Given the description of an element on the screen output the (x, y) to click on. 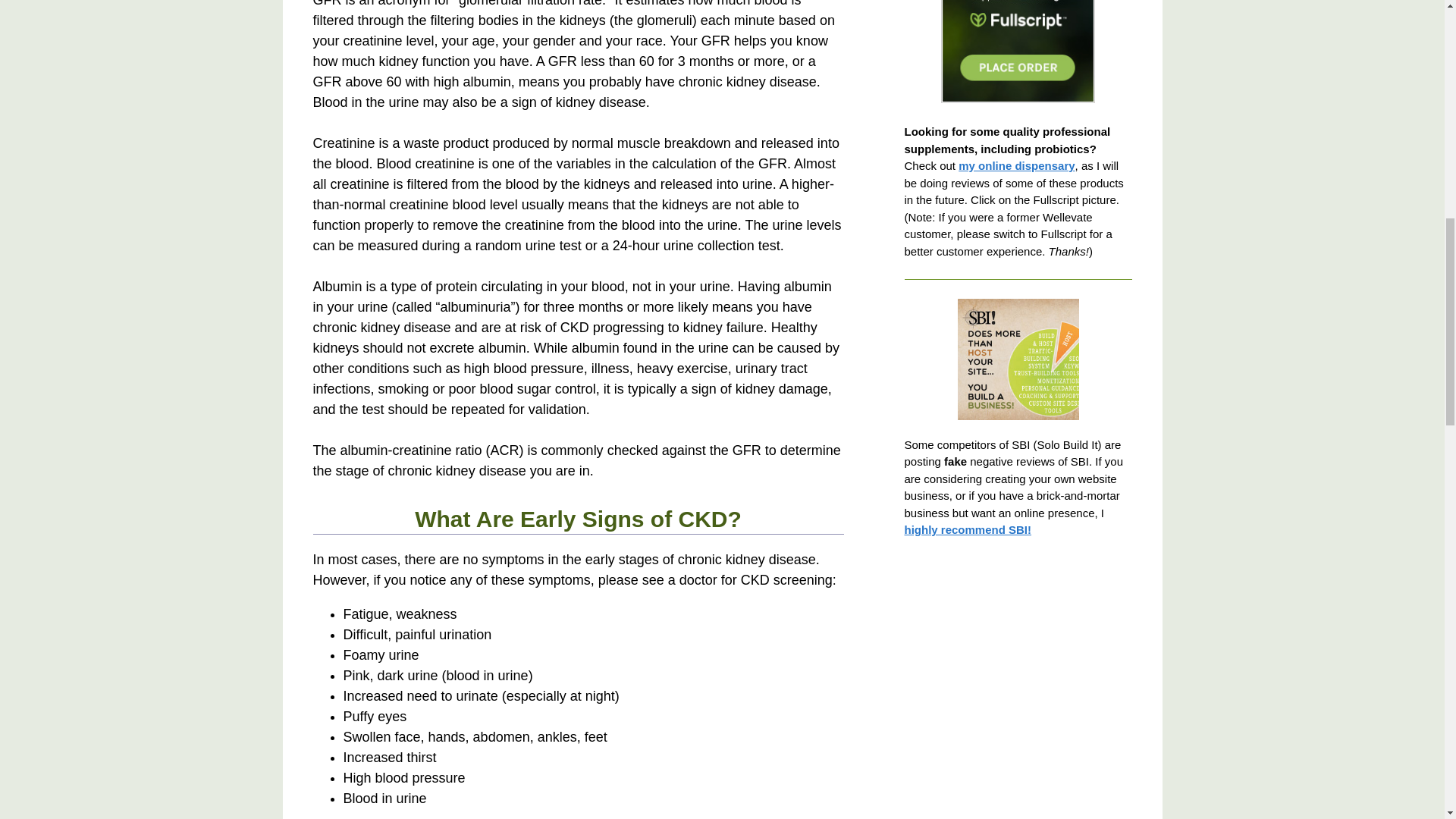
highly recommend SBI! (967, 529)
my online dispensary (1016, 164)
